Given the description of an element on the screen output the (x, y) to click on. 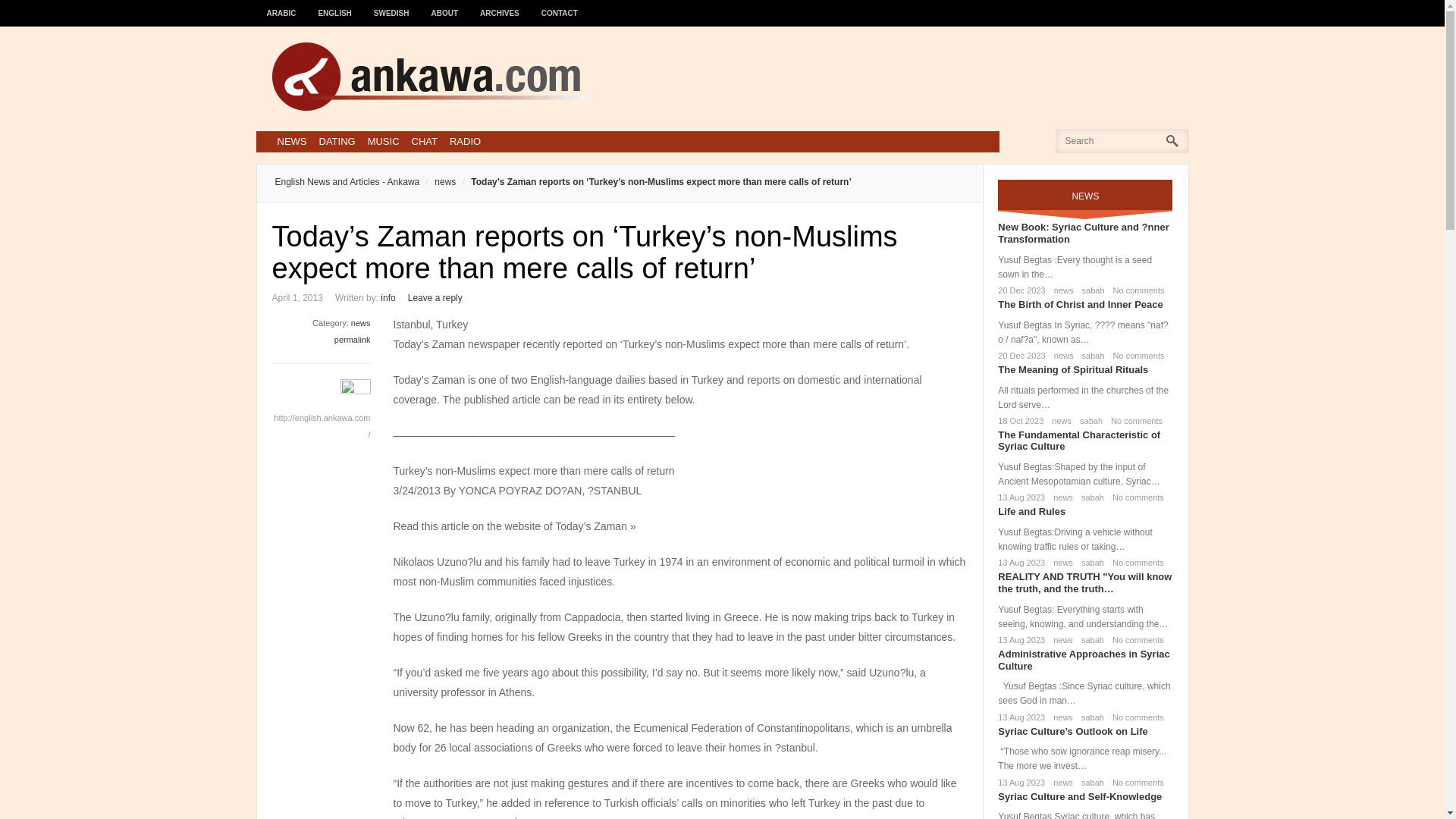
MUSIC (383, 141)
New Book: Syriac Culture and ?nner Transformation (1083, 232)
Advertisement (891, 76)
sabah (1088, 420)
The Birth of Christ and Inner Peace (1079, 304)
RADIO (465, 141)
The Meaning of Spiritual Rituals (1072, 369)
news (1058, 420)
news (1059, 562)
The Fundamental Characteristic of Syriac Culture (1078, 440)
Leave a reply (435, 297)
The Birth of Christ and Inner Peace (1079, 304)
ARCHIVES (499, 5)
info (387, 297)
news (437, 181)
